Given the description of an element on the screen output the (x, y) to click on. 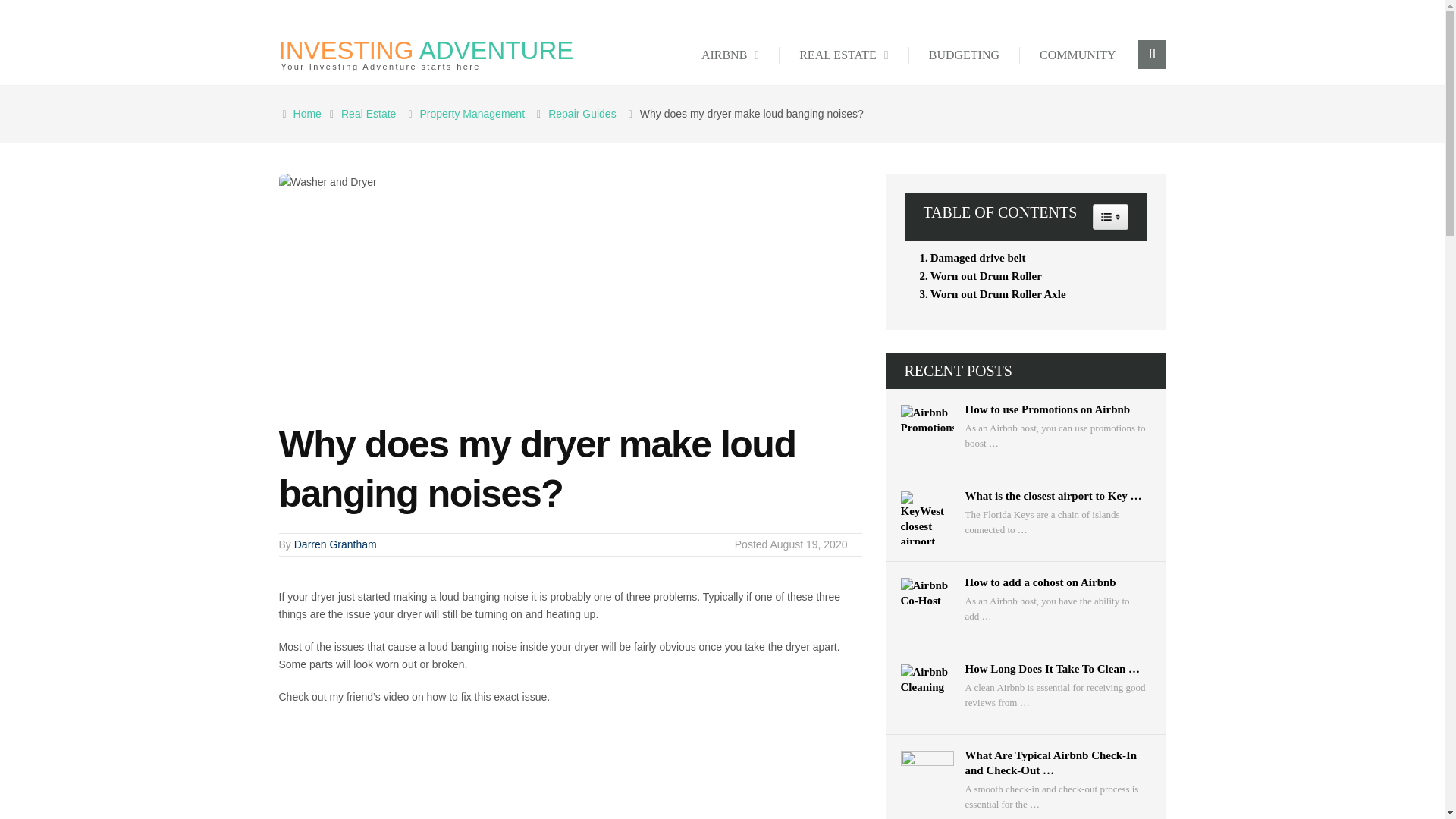
Worn out Drum Roller (976, 275)
Property Management (474, 113)
Posts by Darren Grantham (335, 544)
REAL ESTATE (843, 54)
Home (310, 113)
INVESTING ADVENTURE (426, 50)
BUDGETING (964, 54)
AIRBNB (729, 54)
Repair Guides (584, 113)
Damaged drive belt (968, 257)
